Given the description of an element on the screen output the (x, y) to click on. 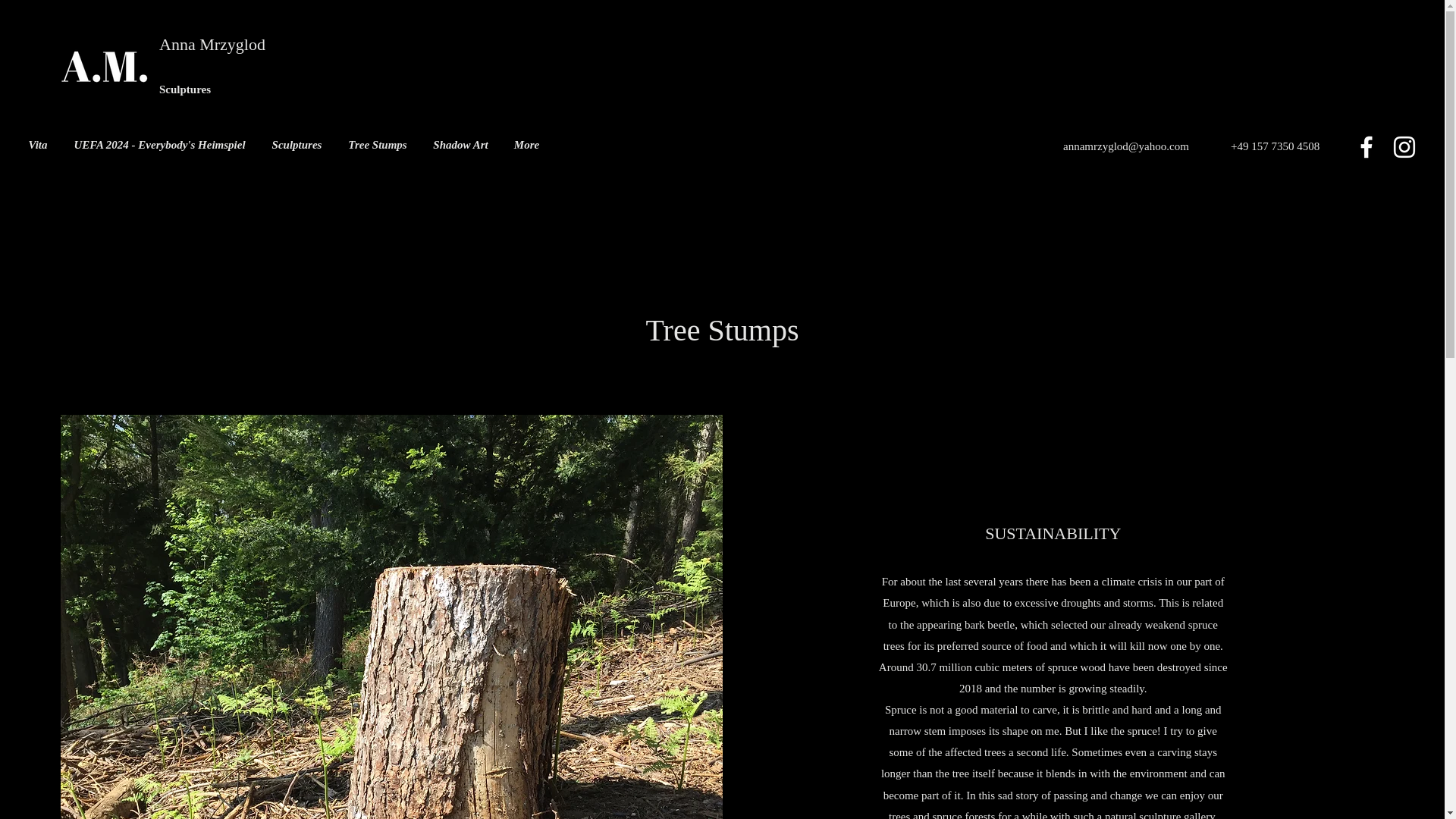
Anna Mrzyglod (211, 44)
UEFA 2024 - Everybody's Heimspiel (160, 144)
Sculptures (296, 144)
Vita (37, 144)
Tree Stumps (377, 144)
Shadow Art (460, 144)
